Given the description of an element on the screen output the (x, y) to click on. 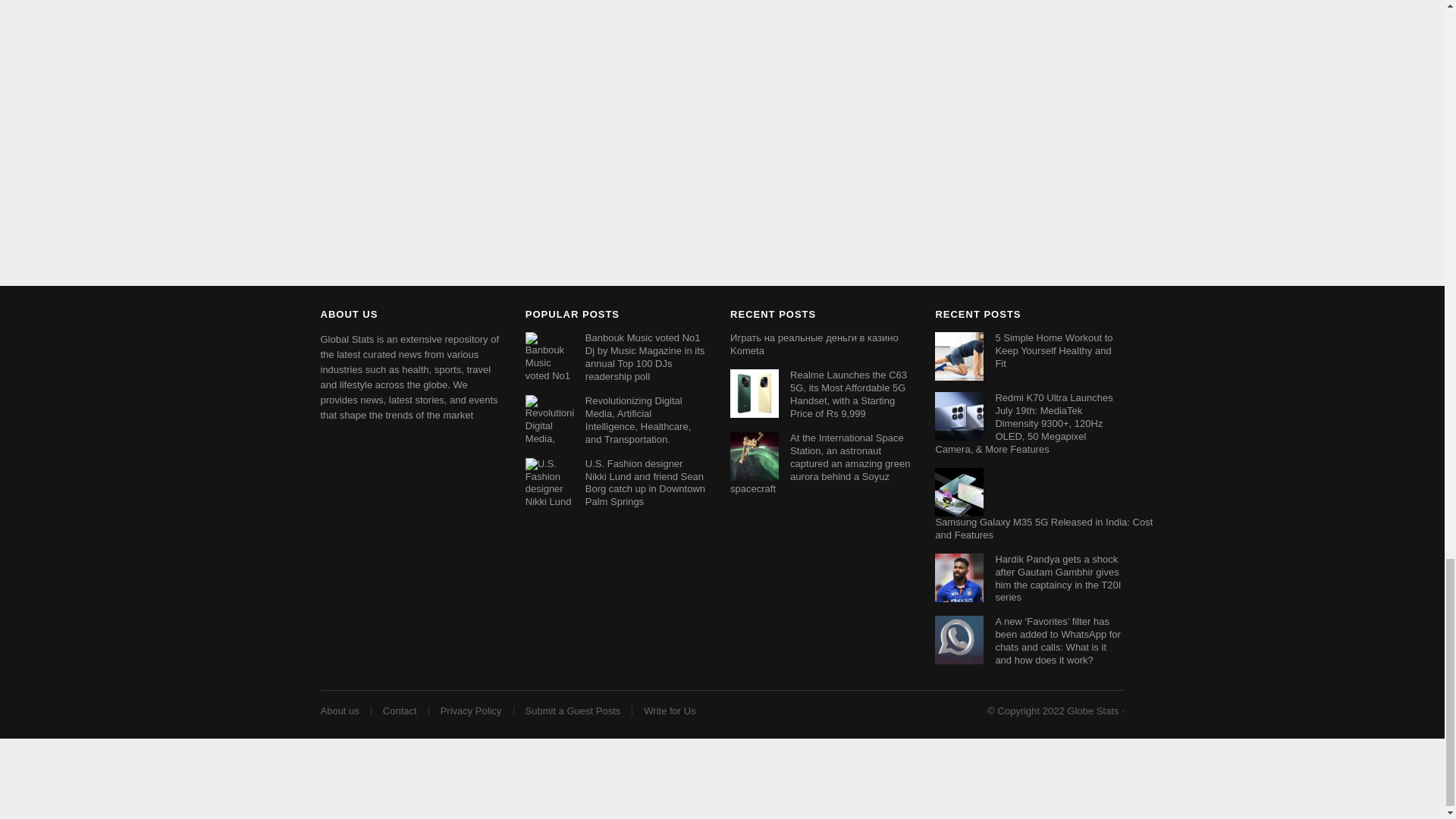
Advertisement (721, 780)
Advertisement (721, 243)
